Given the description of an element on the screen output the (x, y) to click on. 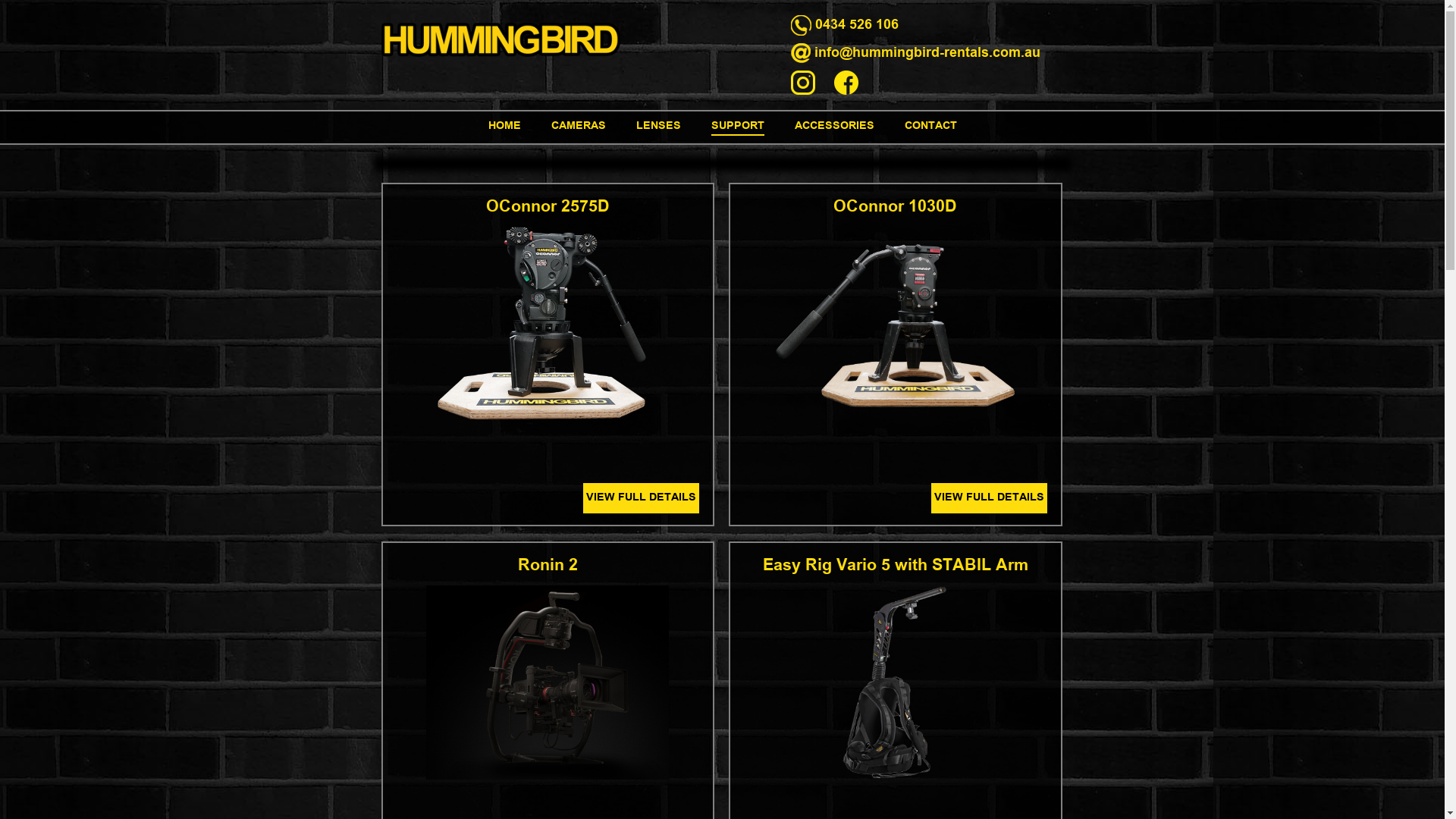
VIEW FULL DETAILS Element type: text (989, 498)
LENSES Element type: text (657, 126)
VIEW FULL DETAILS Element type: text (641, 498)
ACCESSORIES Element type: text (834, 126)
OConnor 2575D Element type: text (547, 206)
Ronin 2 Element type: text (547, 565)
Easy Rig Vario 5 with STABIL Arm Element type: text (895, 565)
SUPPORT Element type: text (737, 127)
OConnor 1030D Element type: text (895, 206)
CAMERAS Element type: text (577, 126)
CONTACT Element type: text (929, 126)
HOME Element type: text (504, 126)
info@hummingbird-rentals.com.au Element type: text (927, 52)
